Given the description of an element on the screen output the (x, y) to click on. 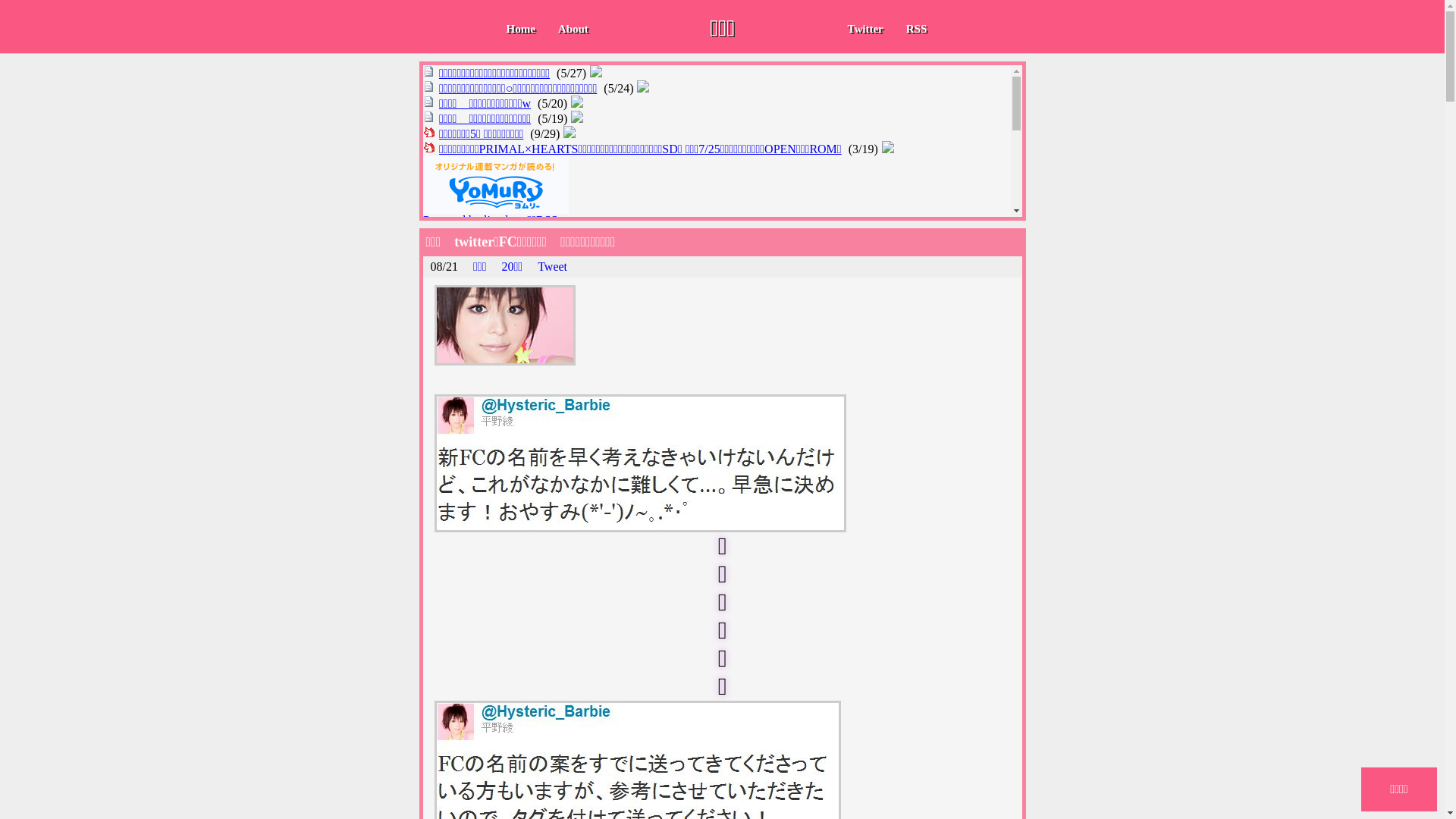
Tweet Element type: text (552, 266)
Twitter Element type: text (864, 28)
Home Element type: text (520, 28)
RSS Element type: text (916, 28)
About Element type: text (572, 28)
